Given the description of an element on the screen output the (x, y) to click on. 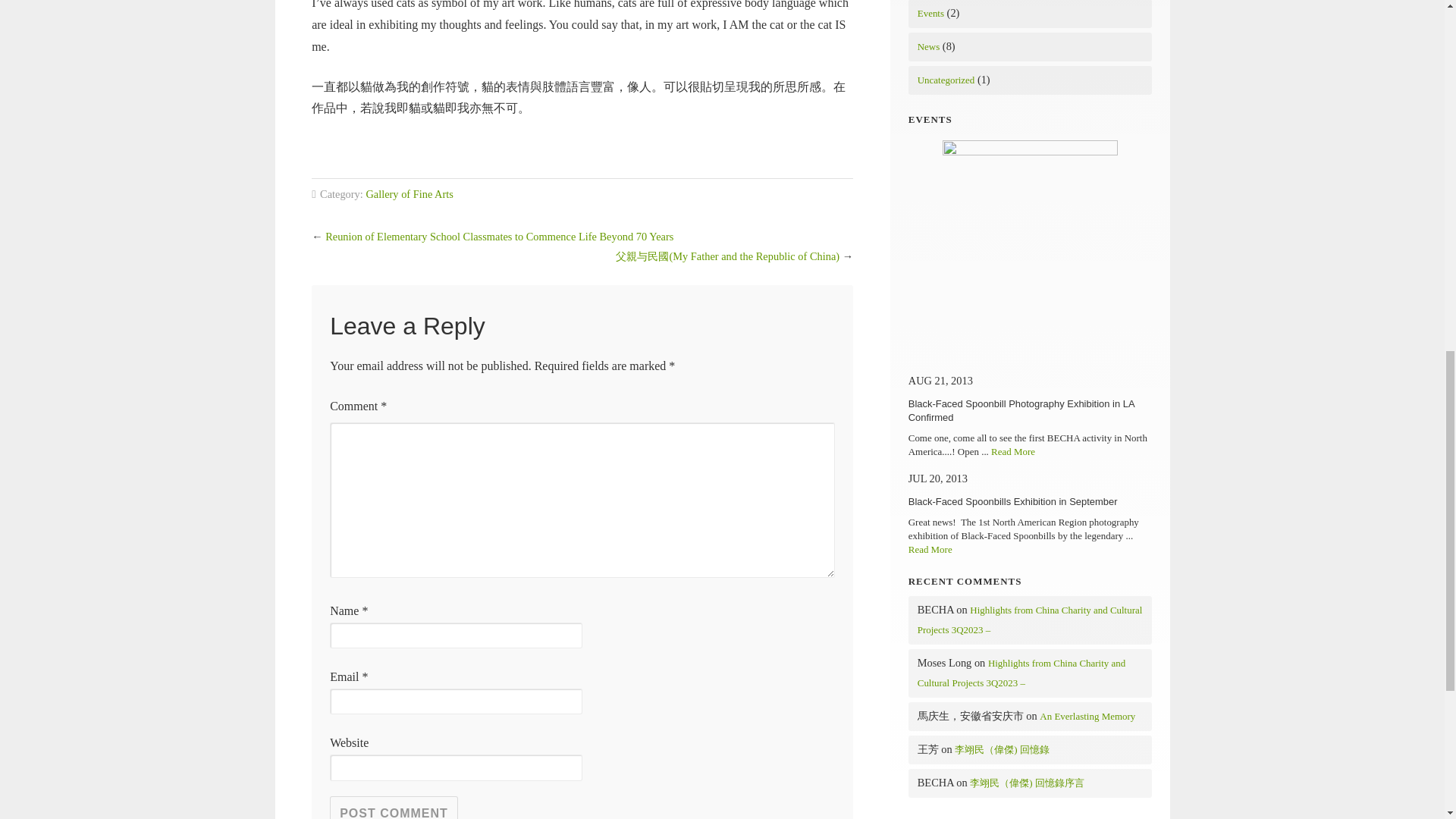
News (928, 46)
Events (930, 12)
Gallery of Fine Arts (408, 193)
Read More (930, 549)
Post Comment (394, 807)
Black-Faced Spoonbill Photography Exhibition in LA Confirmed (1030, 151)
Read More (1013, 451)
Black-Faced Spoonbills Exhibition in September (1013, 501)
Black-Faced Spoonbill Photography Exhibition in LA Confirmed (1021, 410)
Black-Faced Spoonbills Exhibition in September (1013, 501)
